Given the description of an element on the screen output the (x, y) to click on. 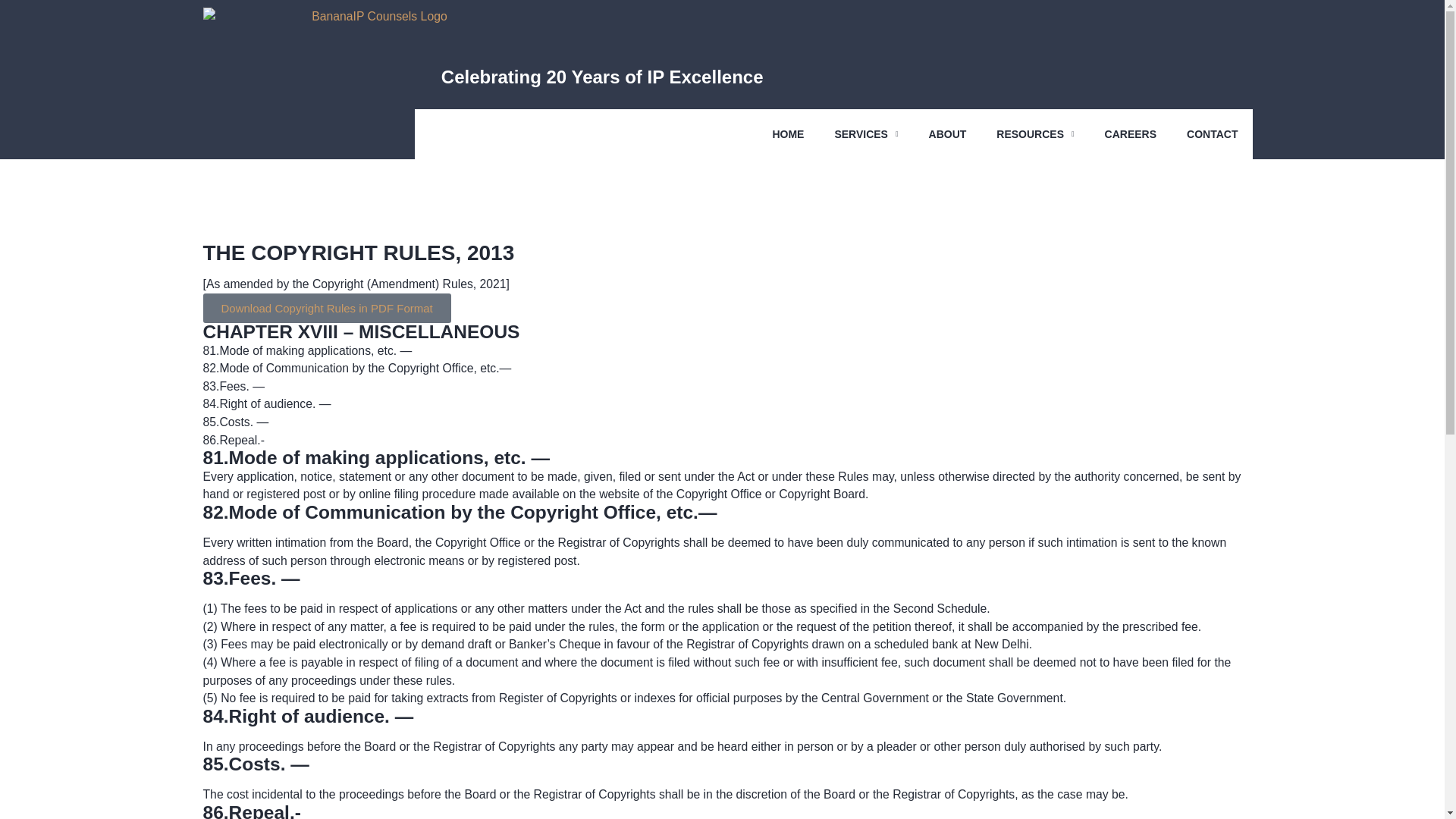
RESOURCES (1035, 134)
SERVICES (865, 134)
ABOUT (947, 134)
HOME (787, 134)
